Given the description of an element on the screen output the (x, y) to click on. 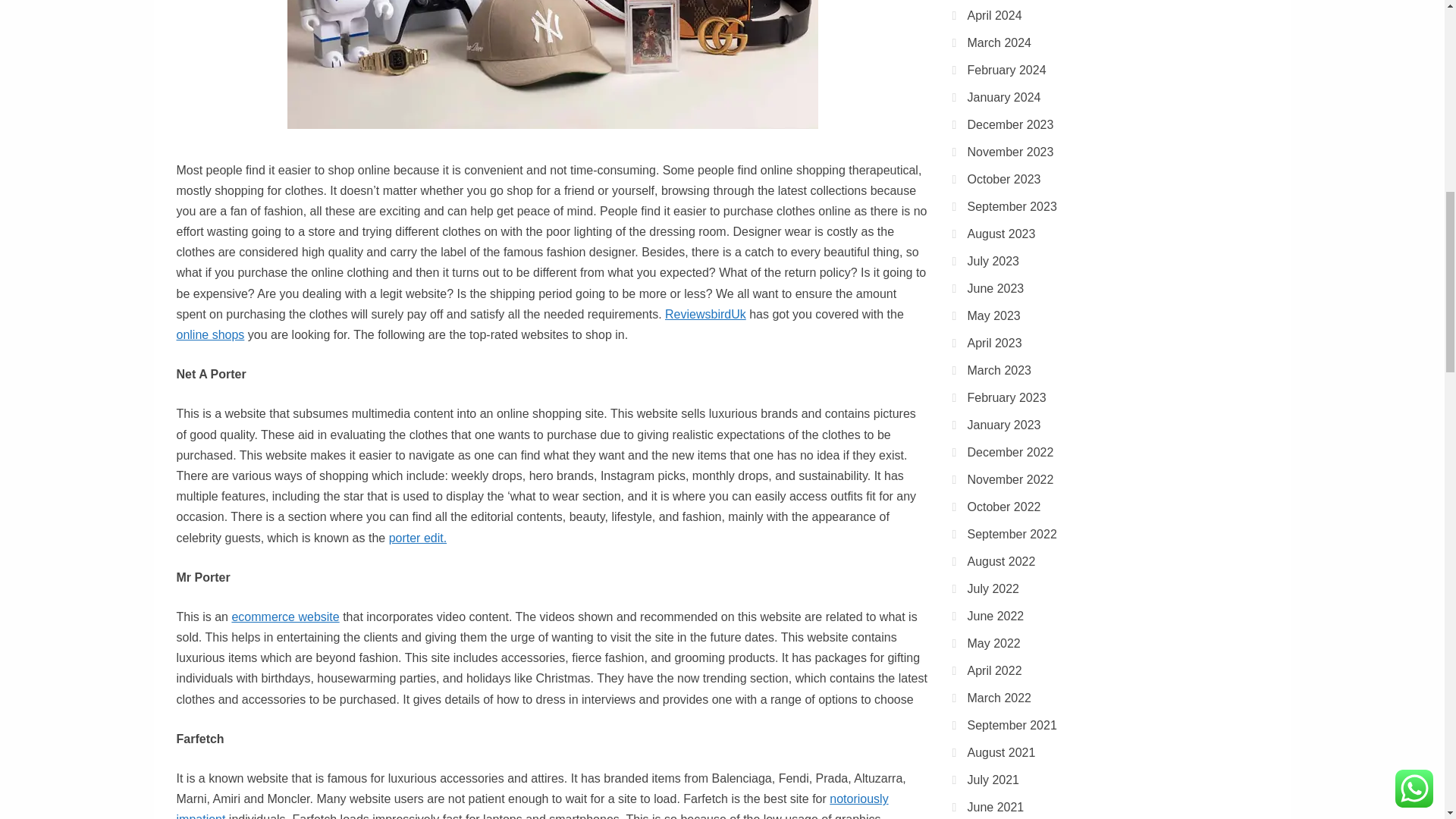
notoriously impatient (532, 805)
online shops (210, 334)
ReviewsbirdUk (705, 314)
porter edit. (417, 537)
ecommerce website (285, 616)
